Given the description of an element on the screen output the (x, y) to click on. 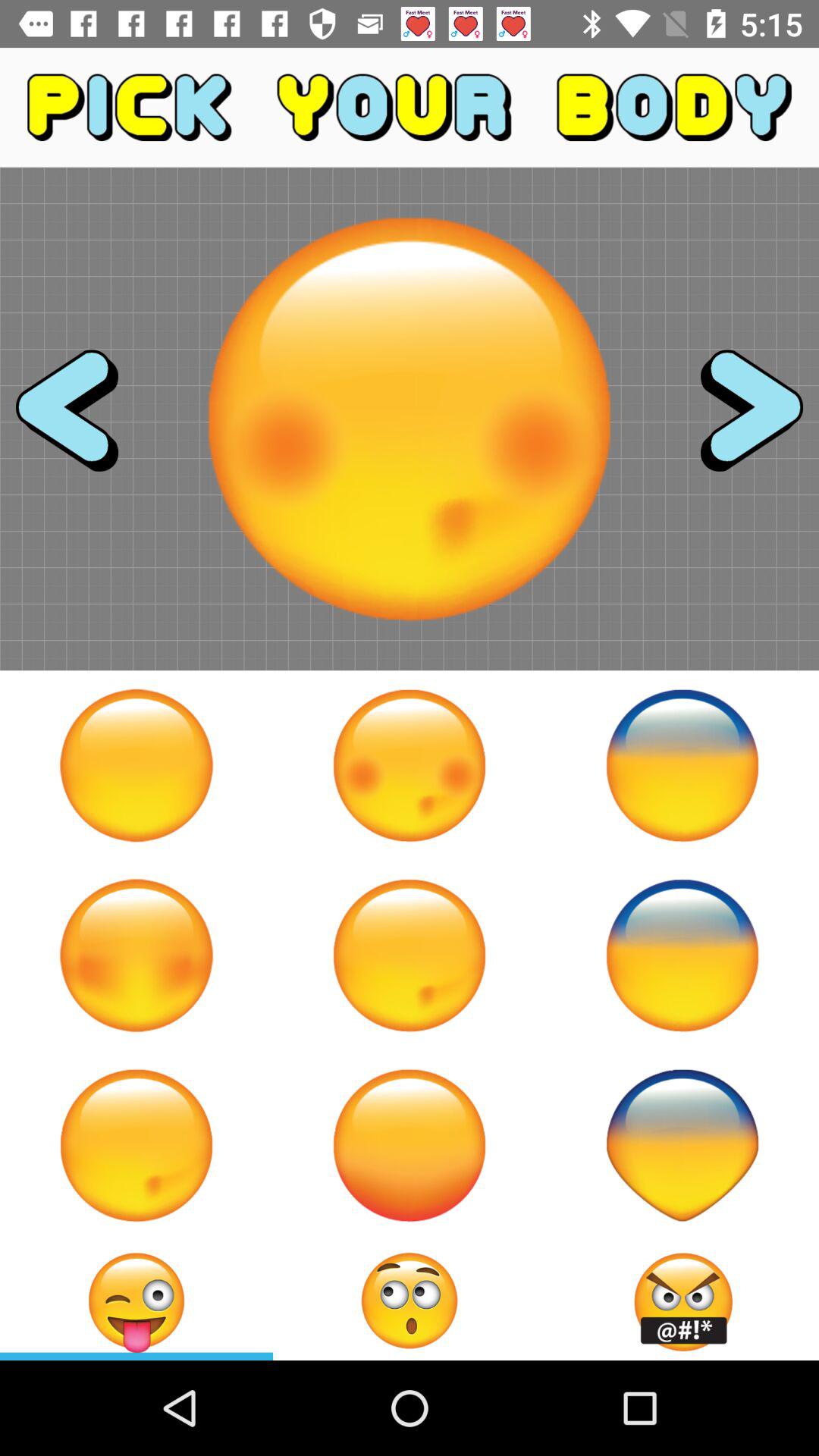
emoji button (136, 1145)
